Given the description of an element on the screen output the (x, y) to click on. 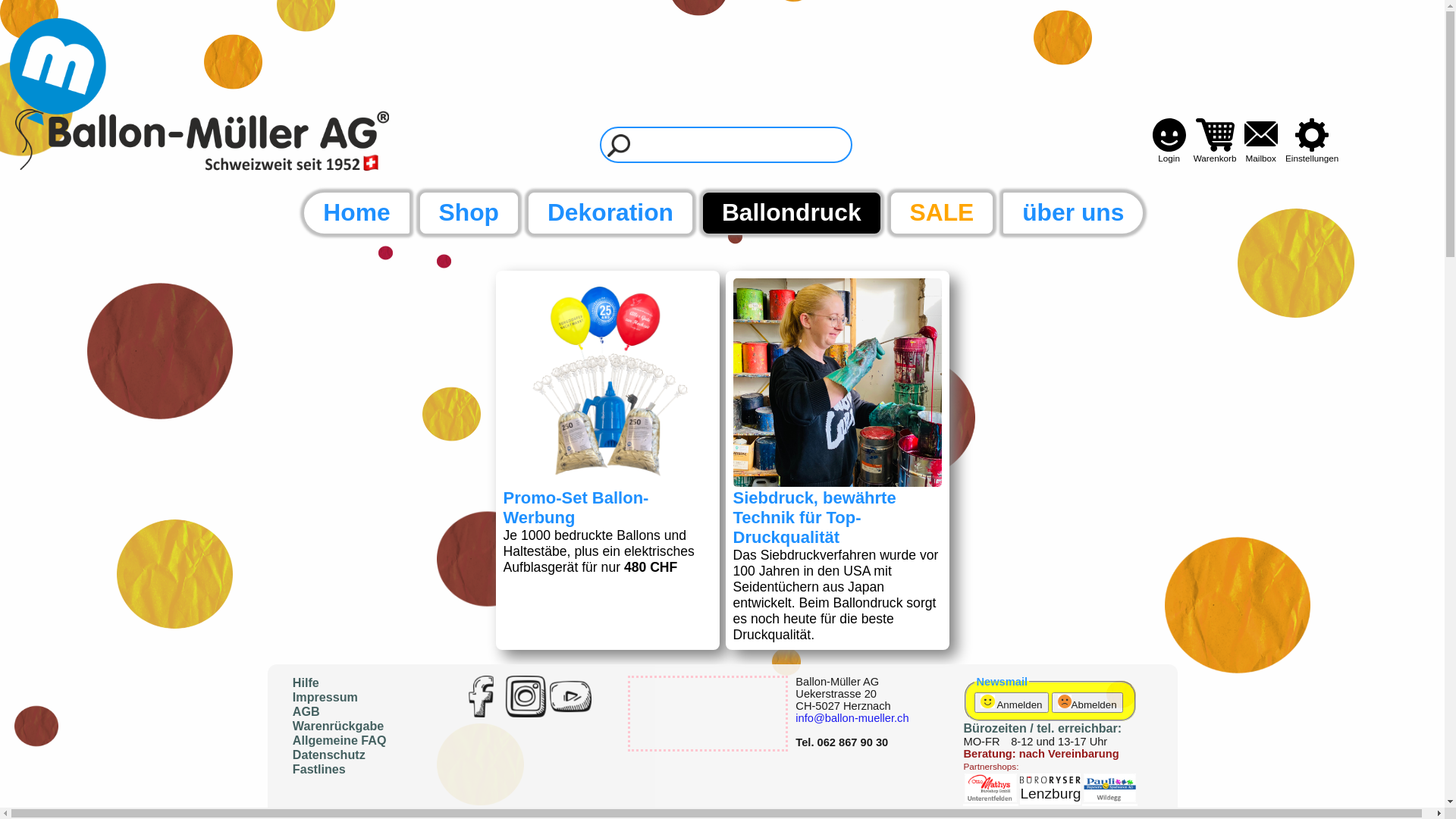
Dekoration Element type: text (608, 213)
Facebook Element type: hover (481, 696)
Anmelden Element type: text (1011, 702)
SALE Element type: text (940, 213)
Instagram Element type: hover (525, 696)
Home Element type: text (354, 213)
info@ballon-mueller.ch Element type: text (851, 718)
Shop Element type: text (467, 213)
Ballondruck Element type: text (789, 213)
Youtube Element type: hover (570, 696)
Abmelden Element type: text (1087, 702)
